Given the description of an element on the screen output the (x, y) to click on. 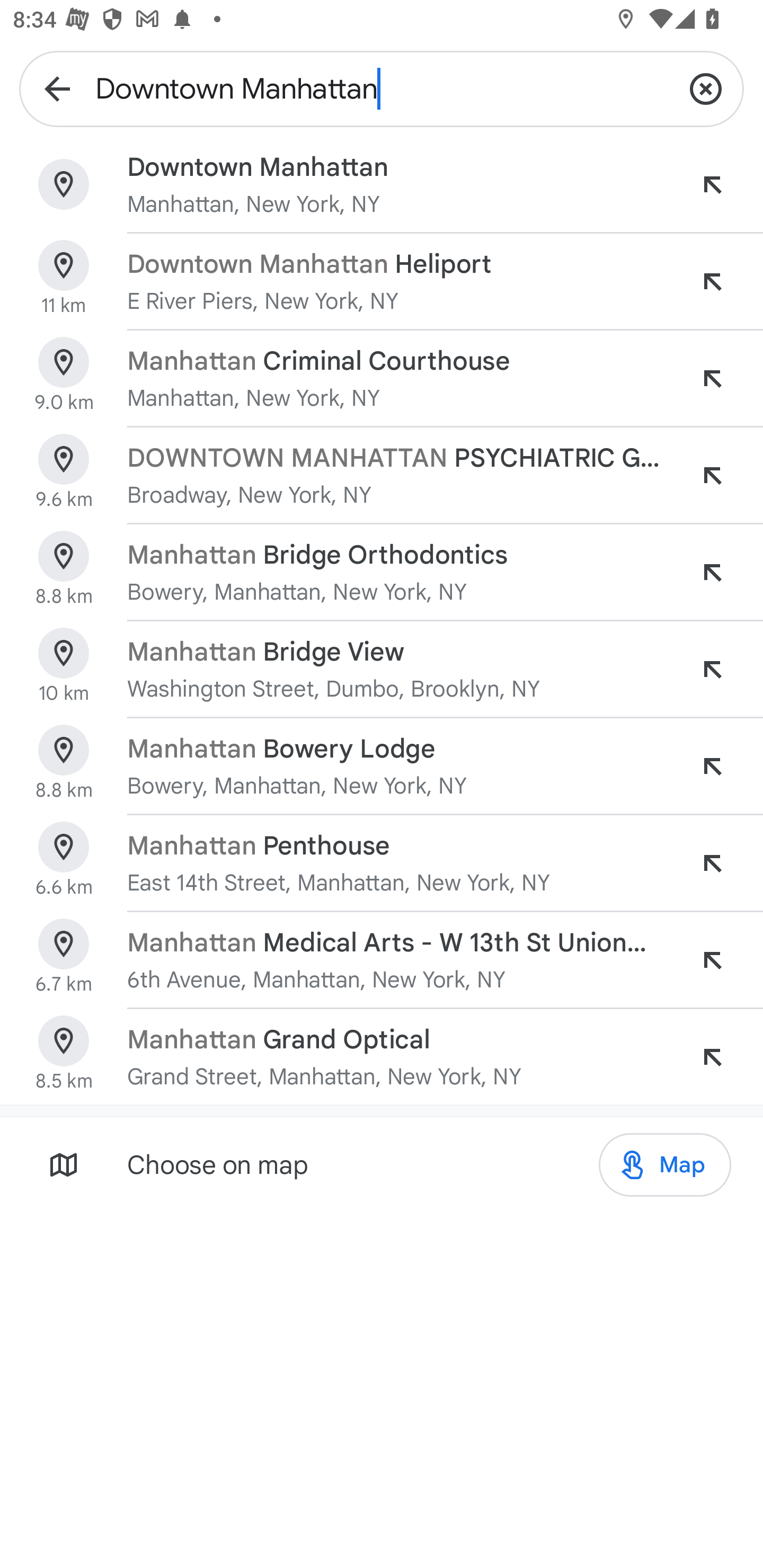
Navigate up (57, 88)
Downtown Manhattan (381, 88)
Clear (705, 88)
Choose on map Map Map Map (381, 1164)
Map Map Map (664, 1164)
